Given the description of an element on the screen output the (x, y) to click on. 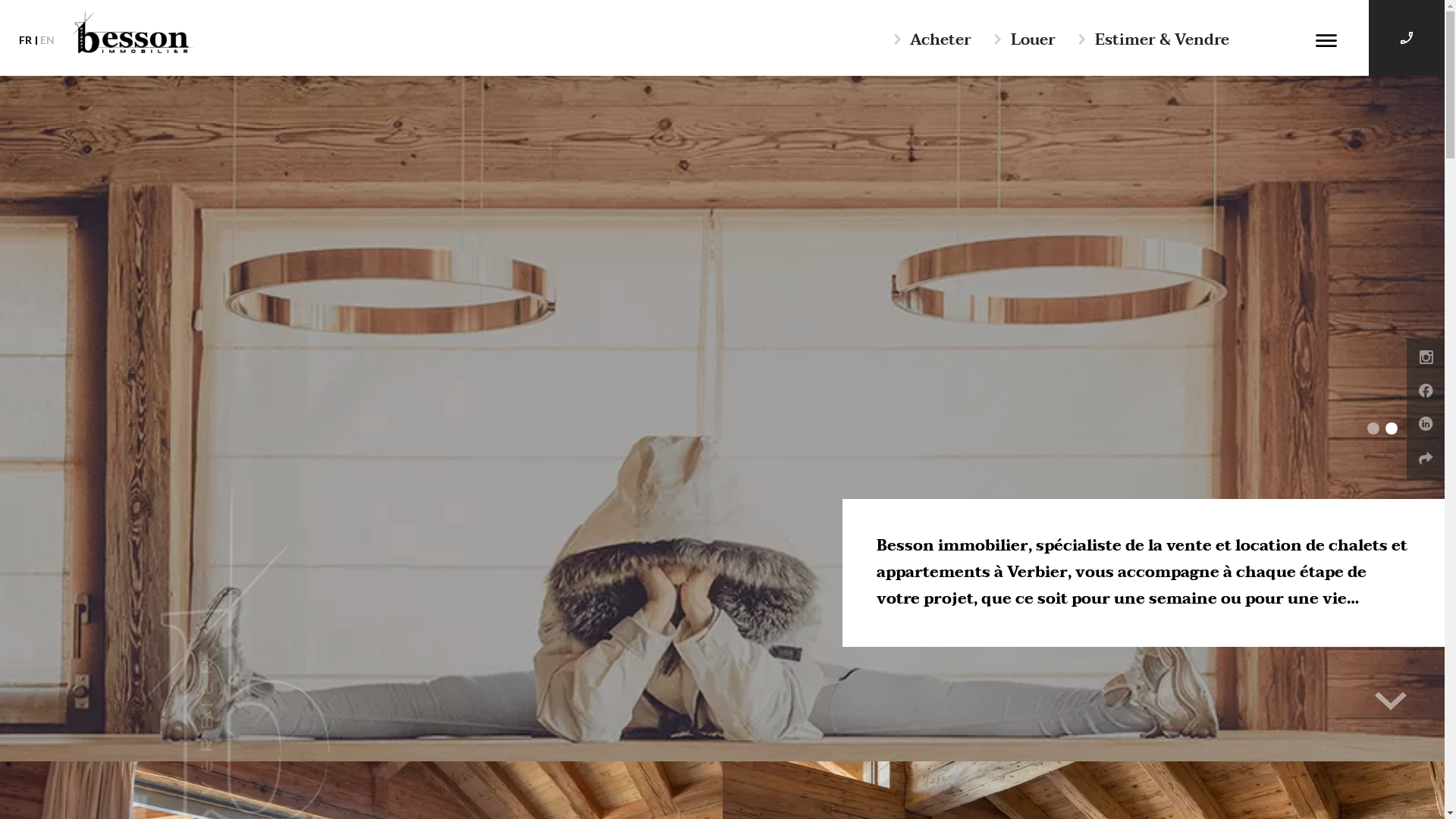
Partager - Besson Immobilier Element type: hover (1425, 459)
Linkedin - Besson Immobilier Element type: hover (1425, 425)
Louer Element type: text (1023, 39)
Estimer & Vendre Element type: text (1152, 39)
Acheter Element type: text (932, 39)
Facebook - Besson Immobilier Element type: hover (1425, 392)
Instagram - Besson Immobilier Element type: hover (1425, 359)
FR Element type: text (24, 39)
EN Element type: text (47, 39)
